Given the description of an element on the screen output the (x, y) to click on. 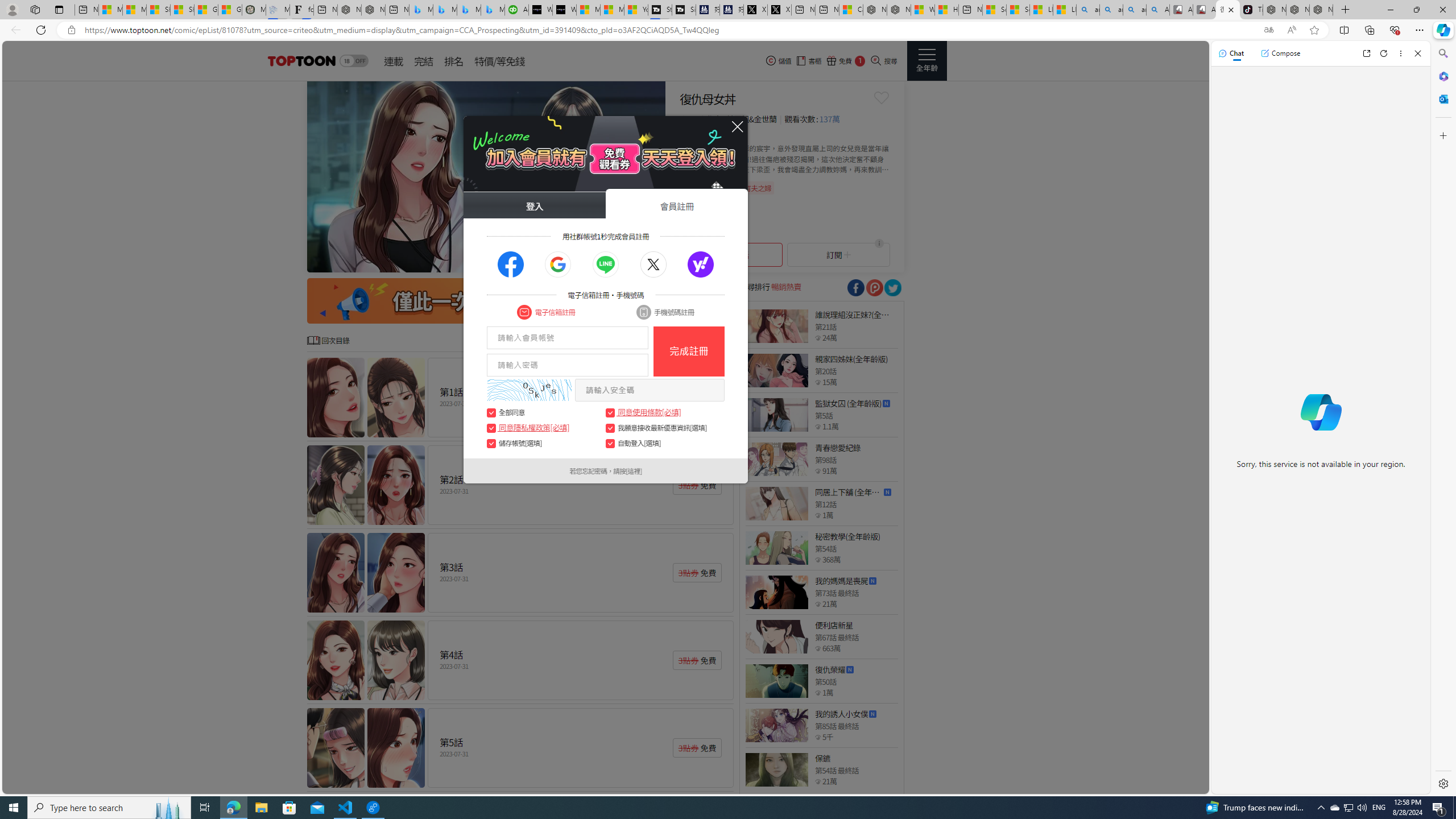
Microsoft 365 (1442, 76)
Class: socialShare (892, 287)
To get missing image descriptions, open the context menu. (486, 176)
Huge shark washes ashore at New York City beach | Watch (946, 9)
